Given the description of an element on the screen output the (x, y) to click on. 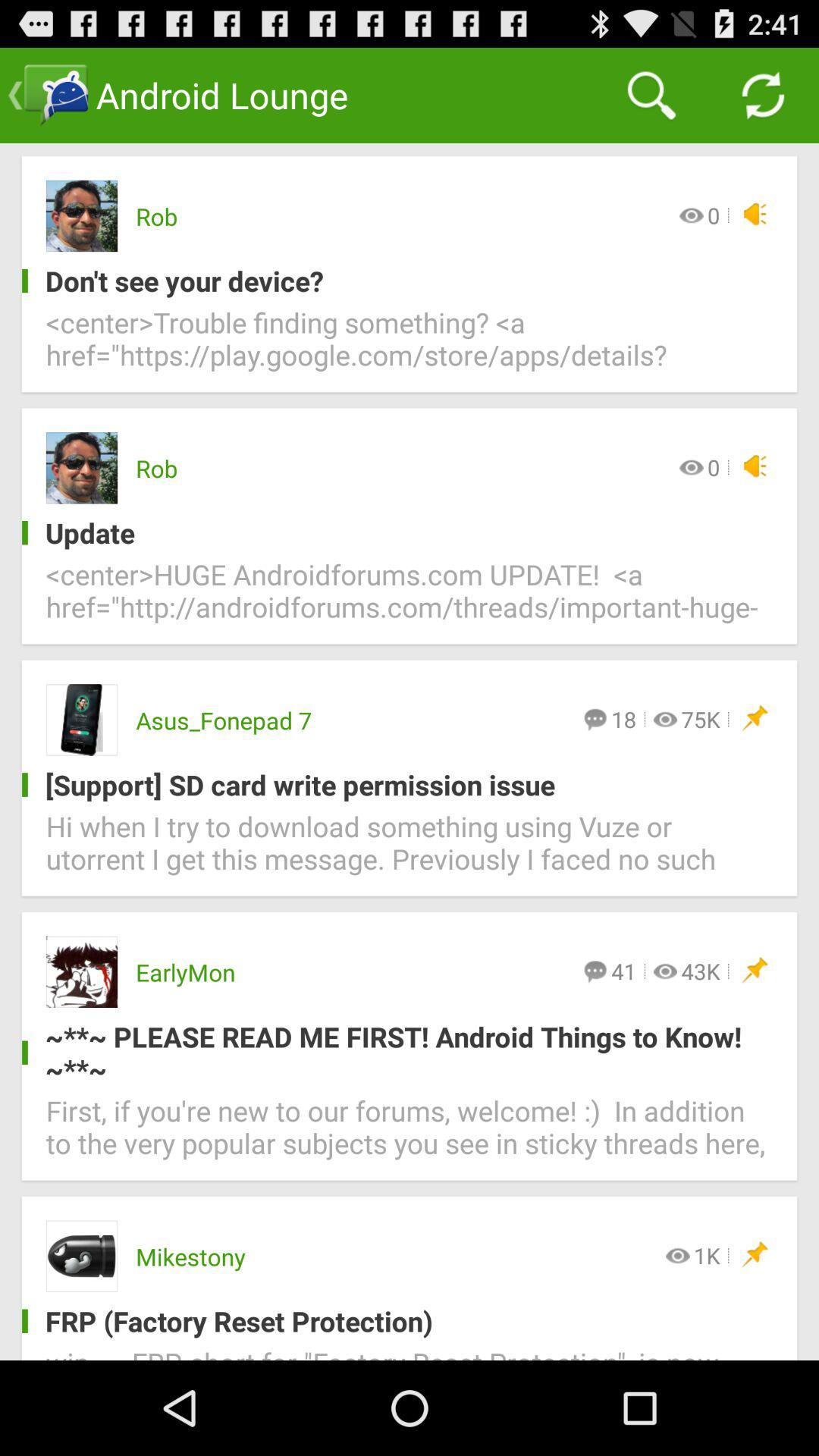
open the hi when i icon (409, 851)
